Given the description of an element on the screen output the (x, y) to click on. 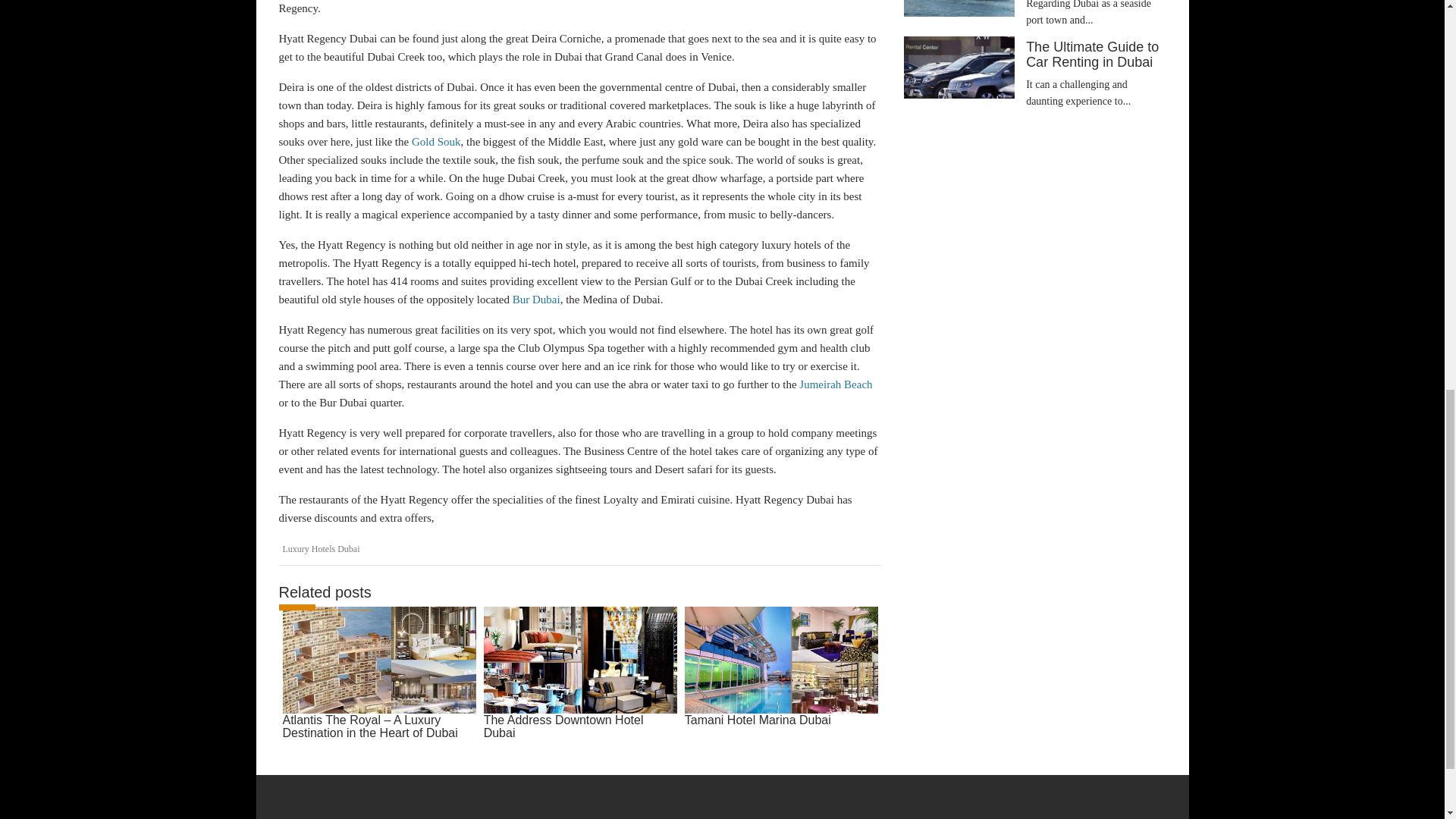
Tamani Hotel Marina Dubai (780, 667)
The Address Downtown Hotel Dubai (580, 674)
Bur Dubai (536, 299)
Gold Souk (436, 141)
Luxury Hotels Dubai (320, 548)
Jumeirah Beach (835, 384)
